Given the description of an element on the screen output the (x, y) to click on. 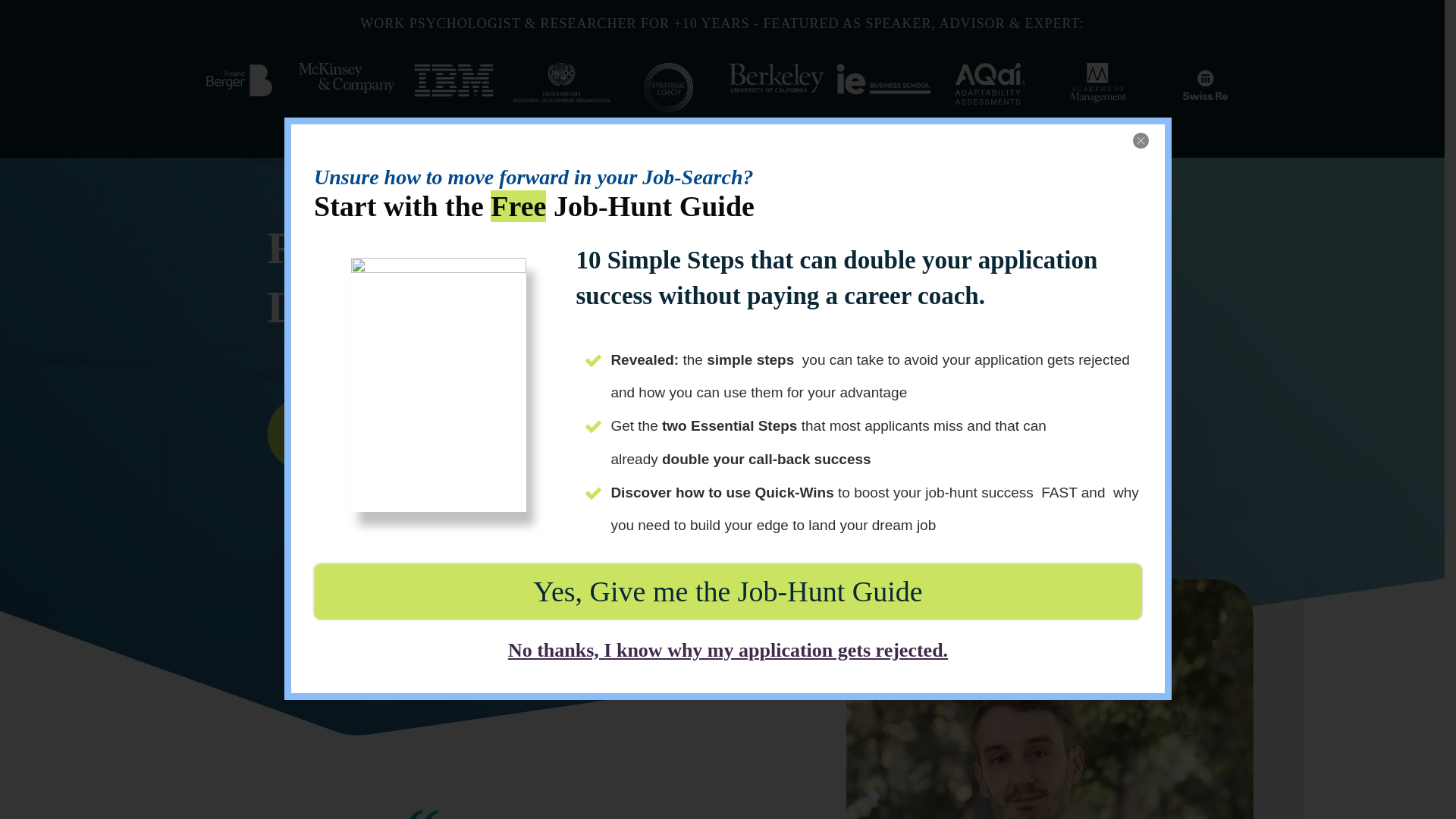
ie business school logo (883, 79)
Book Your Free Strategy Call (416, 433)
Aqai Logo (990, 83)
Swiss Re (1204, 85)
aom logo (1097, 82)
Unido Logo (561, 82)
strategic coach logo (669, 87)
No thanks, I know why my application gets rejected. (727, 649)
MCkinsey logo (346, 77)
Roland Berger Logo (239, 80)
IBM logo (453, 80)
Book Your Free Strategy Call (416, 433)
Yes, Give me the Job-Hunt Guide (727, 591)
Berkeley logo (776, 78)
